Given the description of an element on the screen output the (x, y) to click on. 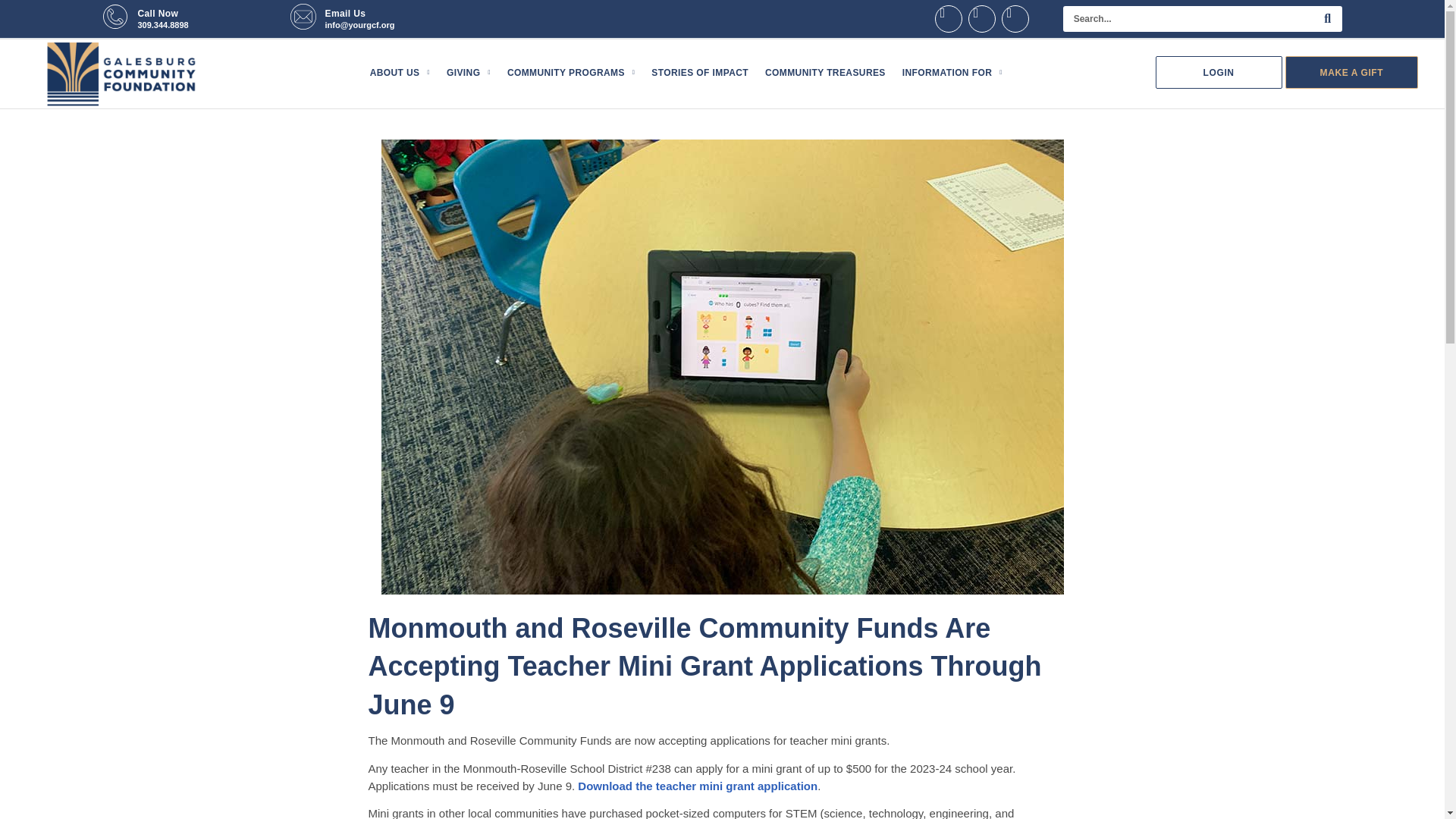
Call Now (156, 13)
ABOUT US (399, 72)
Email Us (344, 13)
309.344.8898 (161, 24)
